Given the description of an element on the screen output the (x, y) to click on. 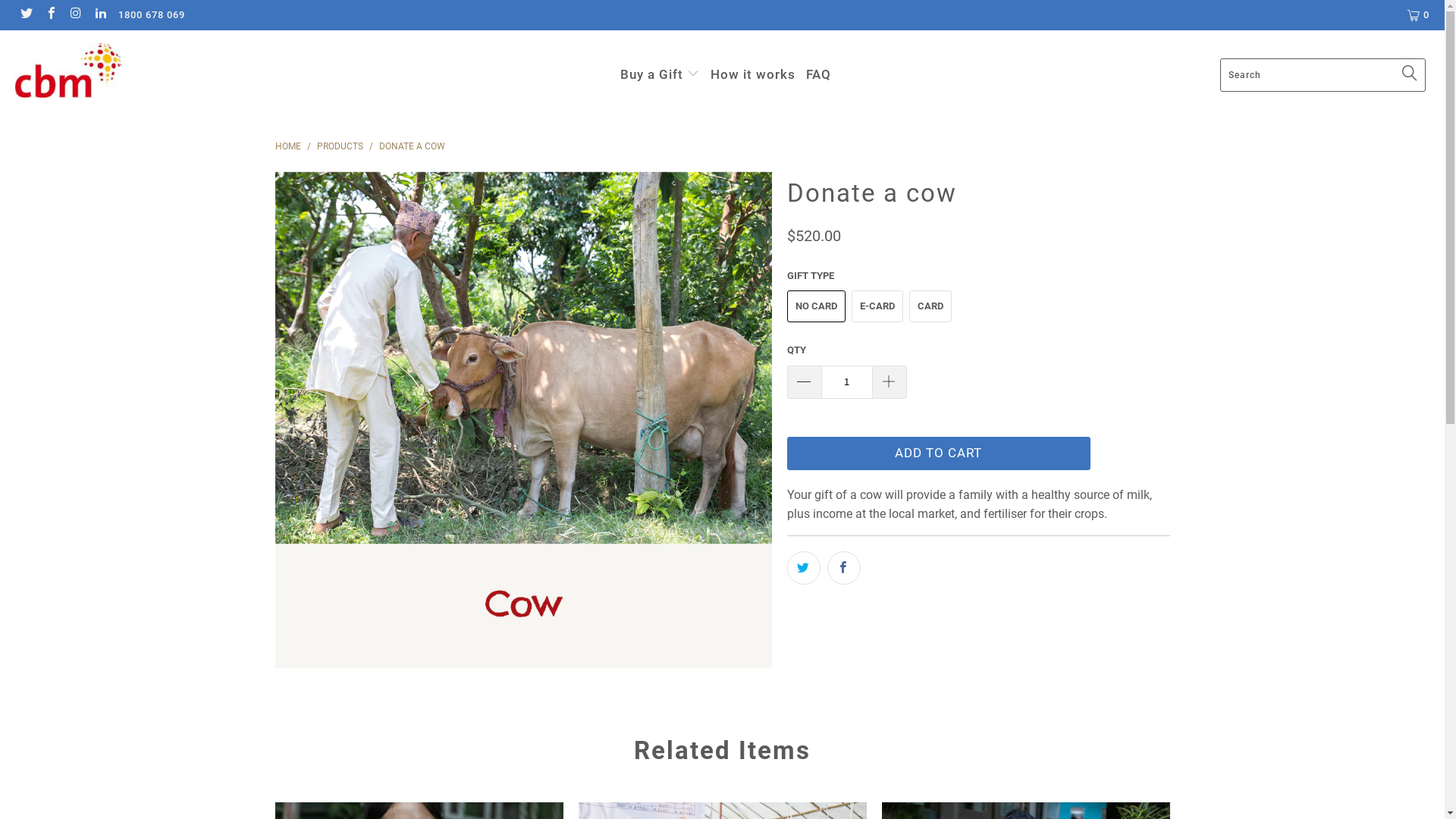
ADD TO CART Element type: text (938, 453)
HOME Element type: text (287, 146)
PRODUCTS Element type: text (340, 146)
Buy a Gift Element type: text (659, 75)
Share this on Facebook Element type: hover (842, 567)
CBM Gift Shop on Instagram Element type: hover (74, 14)
DONATE A COW Element type: text (412, 146)
1800 678 069 Element type: text (151, 15)
CBM Gift Shop on Twitter Element type: hover (25, 14)
Share this on Twitter Element type: hover (803, 567)
CBM Gift Shop Element type: hover (123, 72)
0 Element type: text (1419, 15)
FAQ Element type: text (818, 75)
How it works Element type: text (752, 75)
CBM Gift Shop on Facebook Element type: hover (49, 14)
CBM Gift Shop on LinkedIn Element type: hover (99, 14)
